Given the description of an element on the screen output the (x, y) to click on. 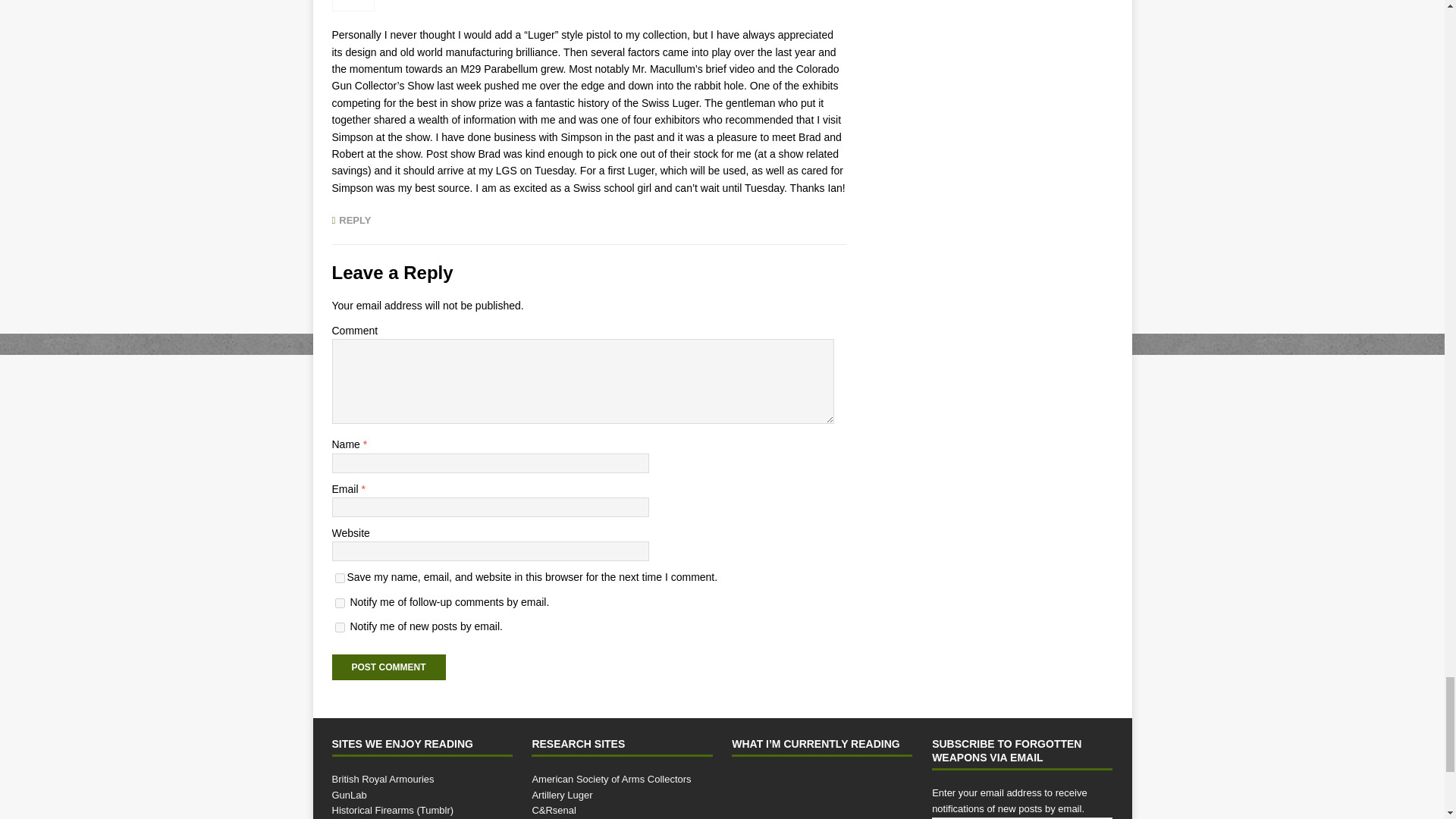
subscribe (339, 603)
subscribe (339, 627)
Post Comment (388, 667)
yes (339, 578)
